Given the description of an element on the screen output the (x, y) to click on. 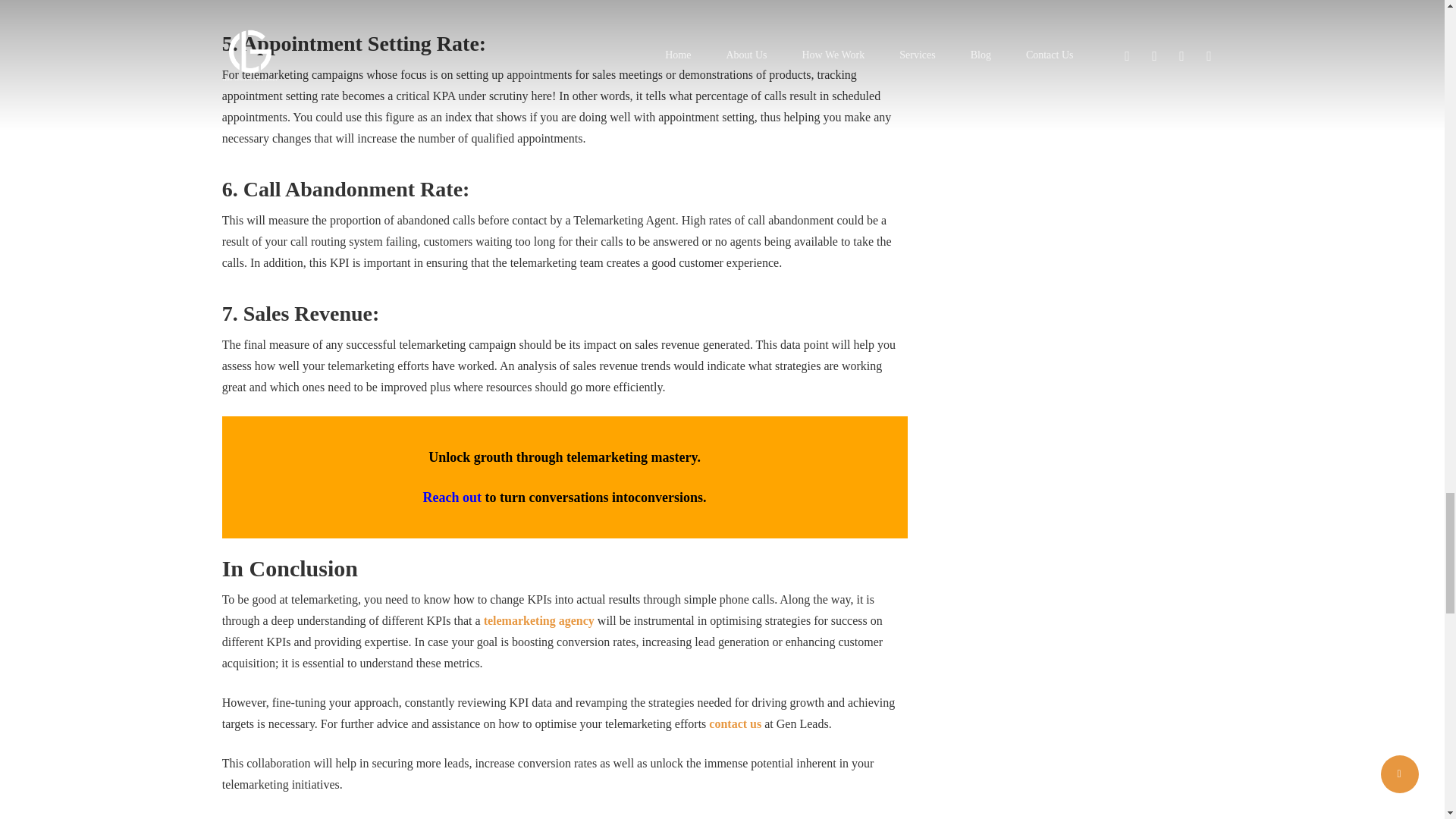
contact us (735, 723)
telemarketing agency (538, 620)
Reach out (452, 497)
